Given the description of an element on the screen output the (x, y) to click on. 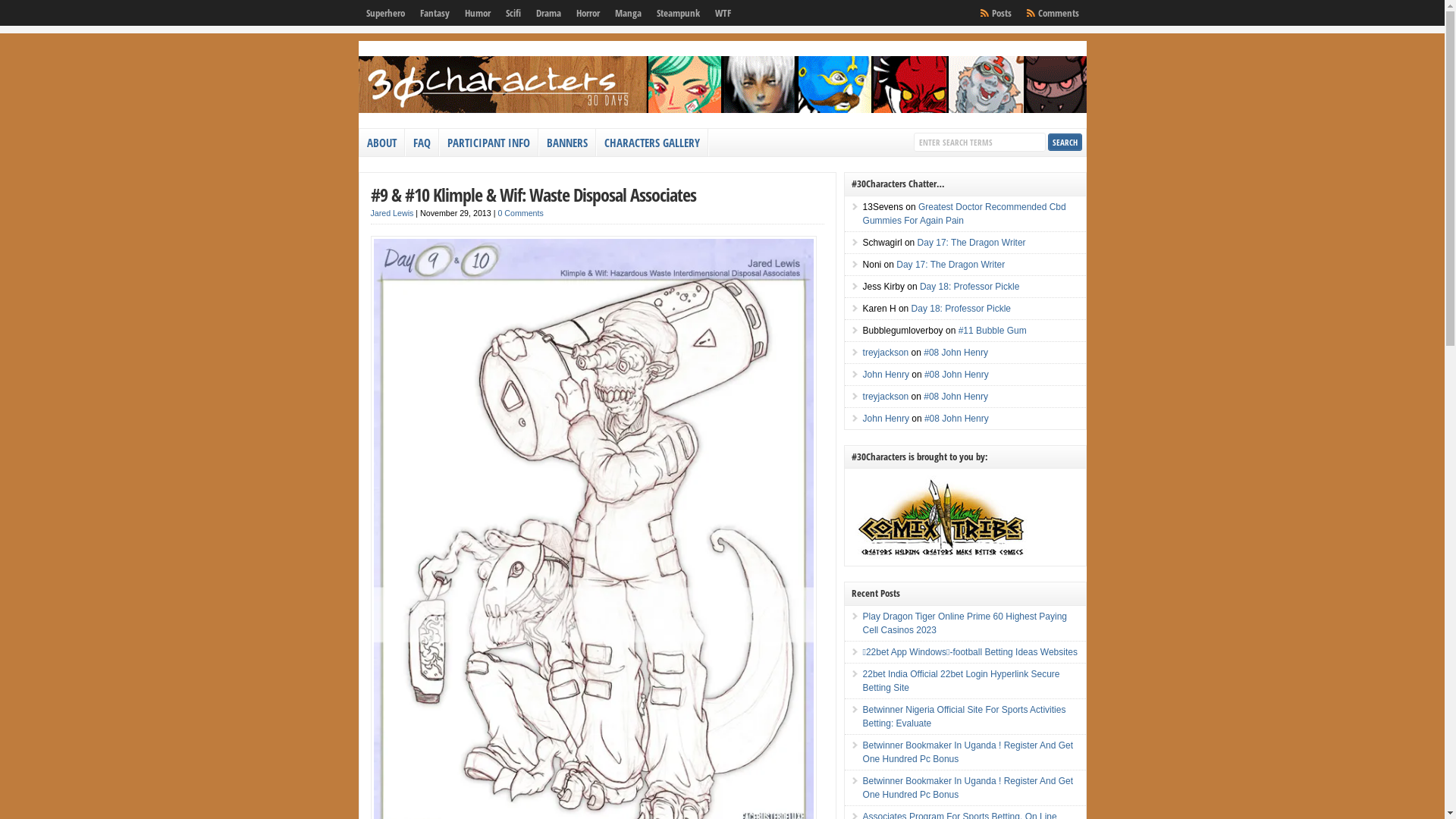
#08 John Henry Element type: text (956, 373)
Fantasy Element type: text (434, 12)
treyjackson Element type: text (885, 352)
PARTICIPANT INFO Element type: text (488, 142)
Superhero Element type: text (384, 12)
The 30 Characters Challenge Element type: hover (721, 109)
Manga Element type: text (627, 12)
Greatest Doctor Recommended Cbd Gummies For Again Pain Element type: text (964, 213)
John Henry Element type: text (885, 417)
Drama Element type: text (547, 12)
Day 17: The Dragon Writer Element type: text (950, 264)
CHARACTERS GALLERY Element type: text (651, 142)
#08 John Henry Element type: text (955, 352)
search Element type: text (1065, 141)
FAQ Element type: text (421, 142)
Day 17: The Dragon Writer Element type: text (971, 241)
#08 John Henry Element type: text (956, 417)
treyjackson Element type: text (885, 396)
Day 18: Professor Pickle Element type: text (969, 285)
BANNERS Element type: text (566, 142)
Horror Element type: text (587, 12)
WTF Element type: text (721, 12)
Humor Element type: text (476, 12)
#11 Bubble Gum Element type: text (992, 329)
John Henry Element type: text (885, 373)
Scifi Element type: text (512, 12)
Steampunk Element type: text (678, 12)
Posts Element type: text (1001, 12)
Day 18: Professor Pickle Element type: text (960, 308)
#08 John Henry Element type: text (955, 396)
ABOUT Element type: text (381, 142)
#9 & #10 Klimple & Wif: Waste Disposal Associates Element type: text (532, 194)
Jared Lewis Element type: text (391, 212)
0 Comments Element type: text (519, 212)
Comments Element type: text (1057, 12)
